Given the description of an element on the screen output the (x, y) to click on. 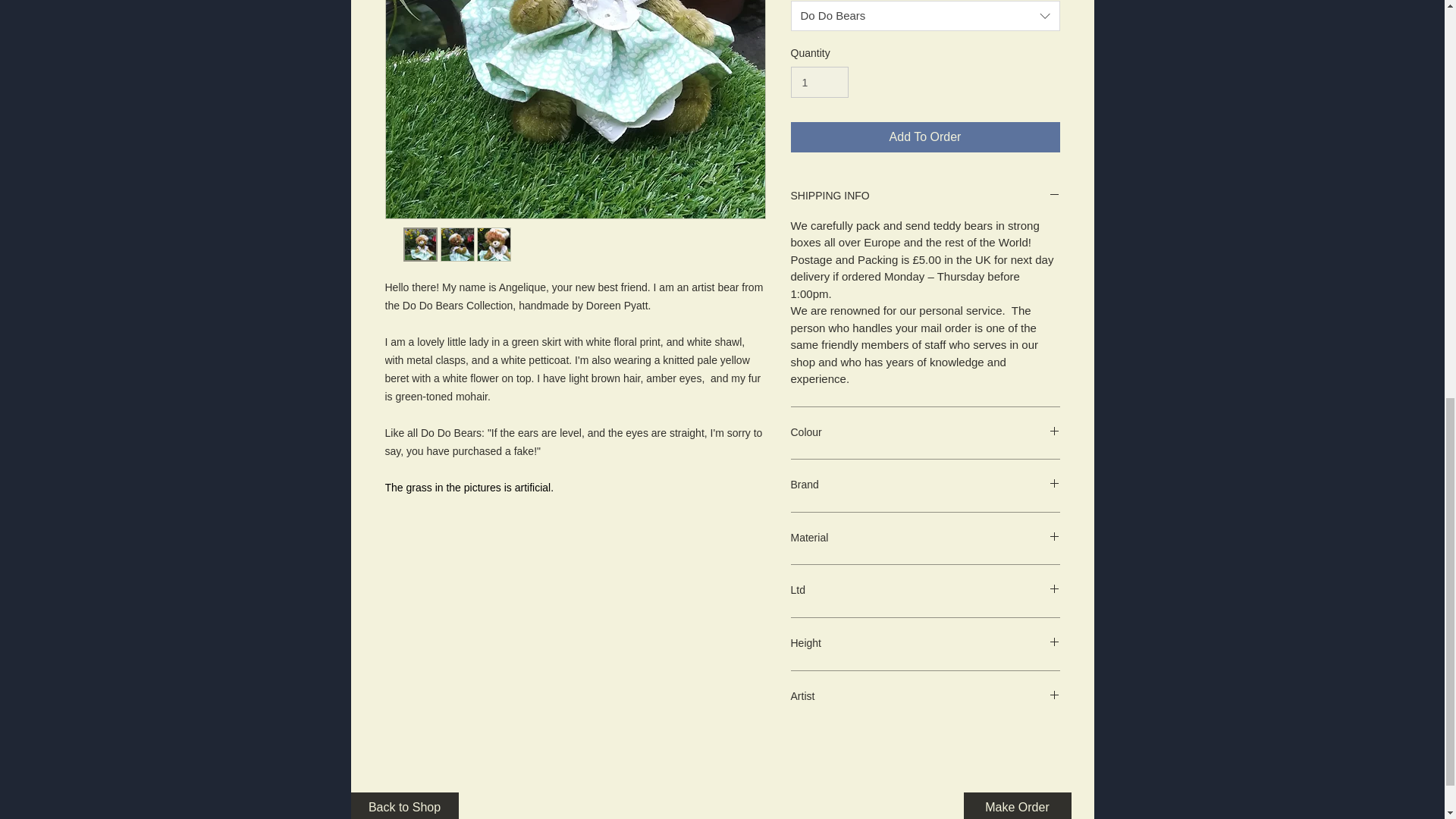
1 (818, 81)
